Given the description of an element on the screen output the (x, y) to click on. 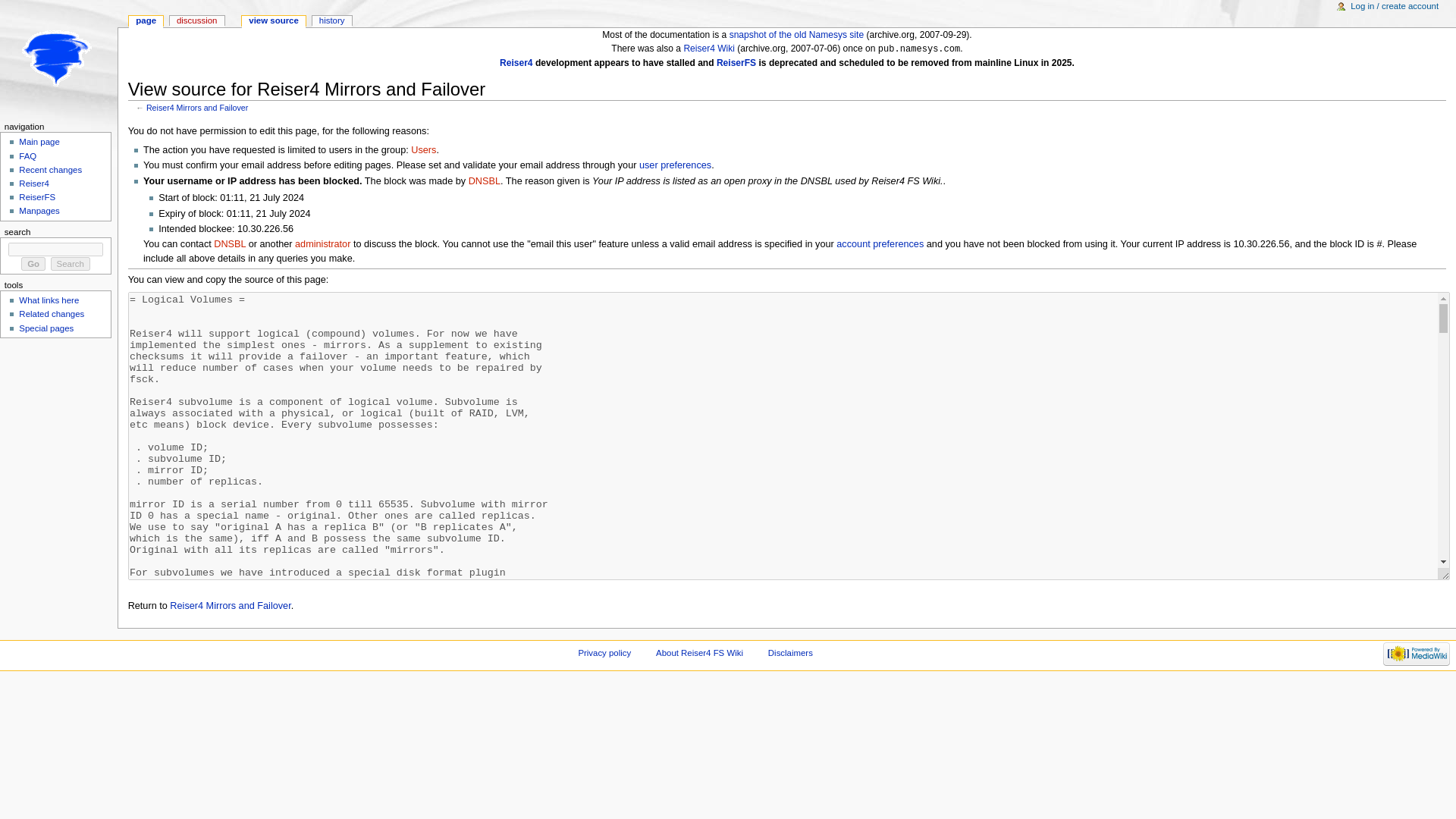
administrator (322, 244)
Reiser4 Mirrors and Failover (229, 605)
page (146, 21)
Visit the main page (58, 58)
Special:Preferences (879, 244)
Special pages (46, 327)
Reiser4 Mirrors and Failover (197, 107)
snapshot of the old Namesys site (796, 34)
view source (273, 21)
ReiserFS (735, 62)
Main page (38, 141)
Special:Preferences (675, 164)
Go (33, 264)
Search (70, 264)
Disclaimers (790, 652)
